Given the description of an element on the screen output the (x, y) to click on. 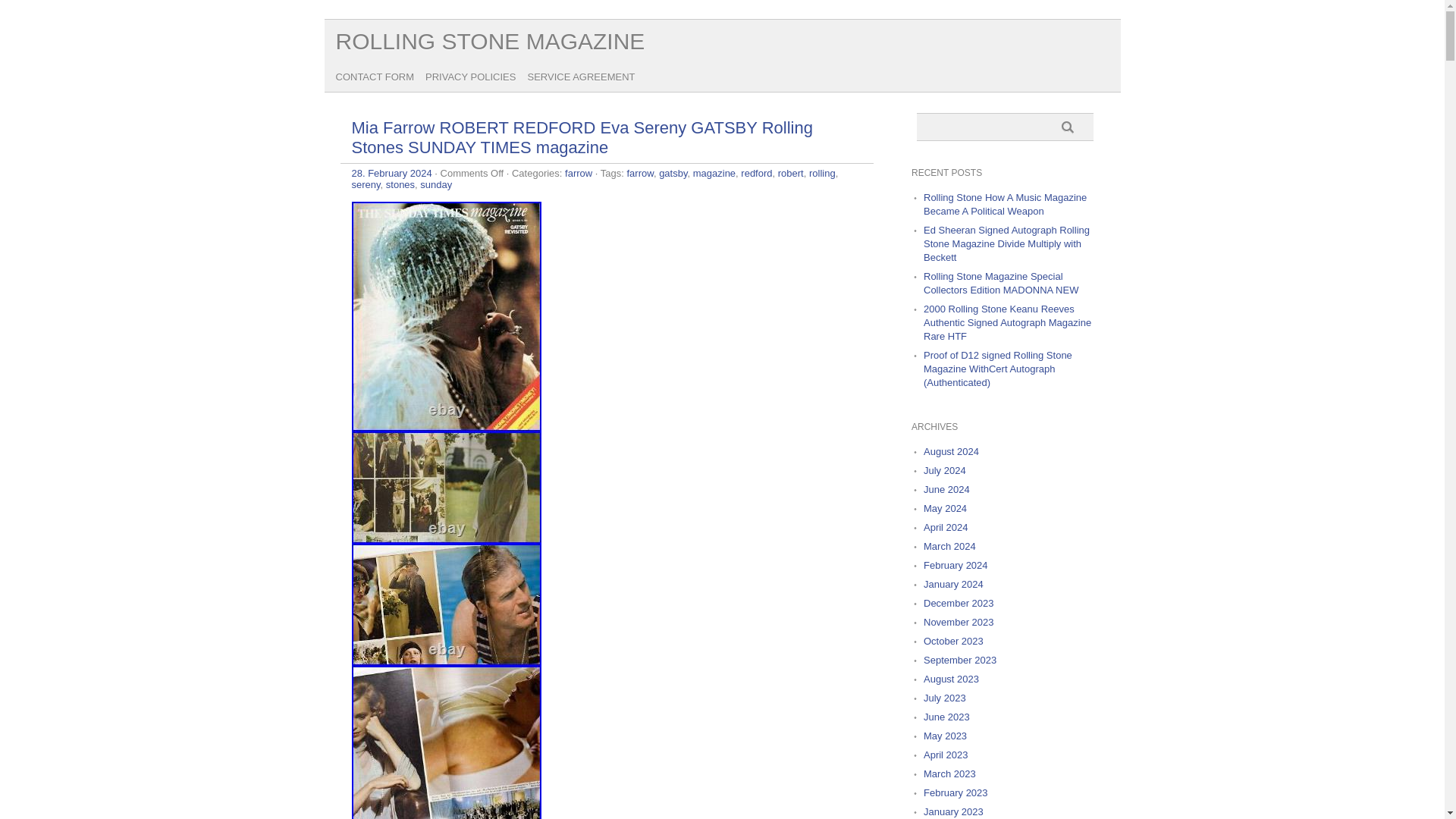
sereny (366, 184)
April 2024 (945, 527)
Search (1072, 126)
July 2024 (944, 470)
December 2023 (958, 603)
August 2023 (950, 678)
28. February 2024 (392, 173)
ROLLING STONE MAGAZINE (489, 41)
September 2023 (959, 659)
